Given the description of an element on the screen output the (x, y) to click on. 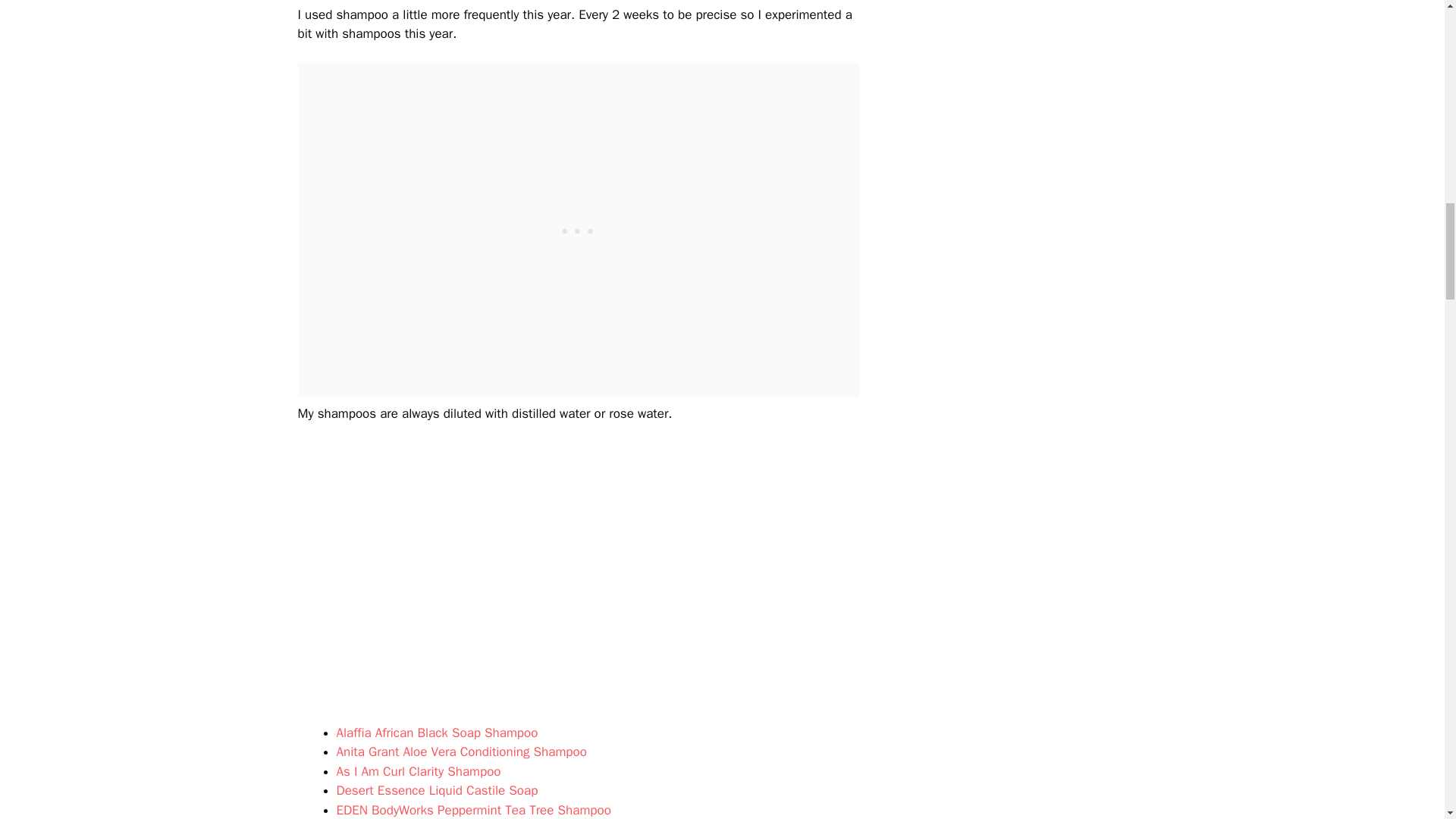
As I Am Curl Clarity Shampoo (418, 771)
Alaffia African Black Soap for Hair (437, 732)
Anita Grant Aloe Vera Conditioning Shampoo (461, 751)
Desert Essence Liquid Castile Soap (437, 790)
Alaffia African Black Soap Shampoo (437, 732)
EDEN BodyWorks Peppermint Tea Tree Shampoo (473, 810)
